Given the description of an element on the screen output the (x, y) to click on. 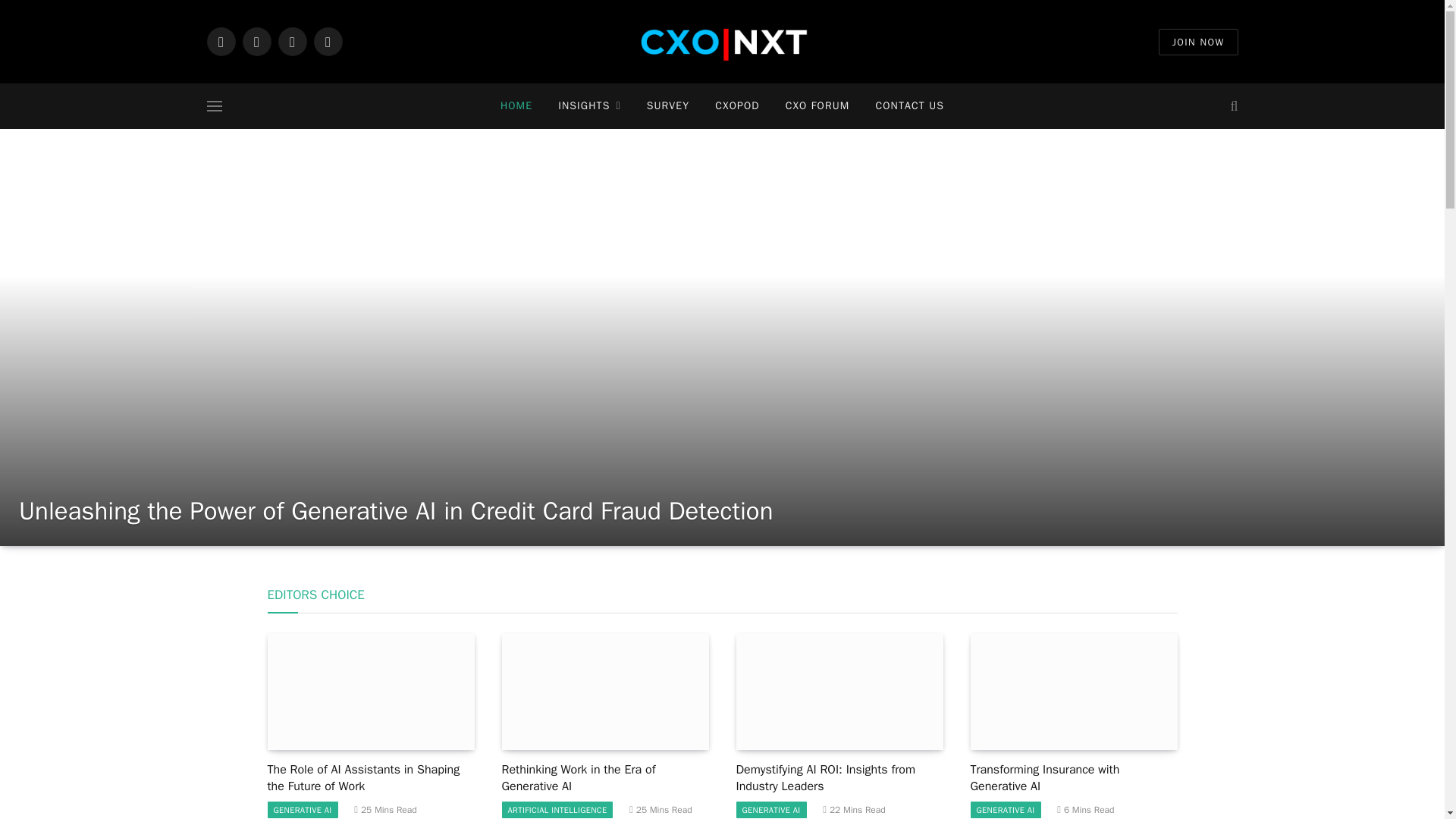
INSIGHTS (588, 105)
Facebook (291, 41)
JOIN NOW (1198, 41)
HOME (515, 105)
LinkedIn (220, 41)
YouTube (328, 41)
